Given the description of an element on the screen output the (x, y) to click on. 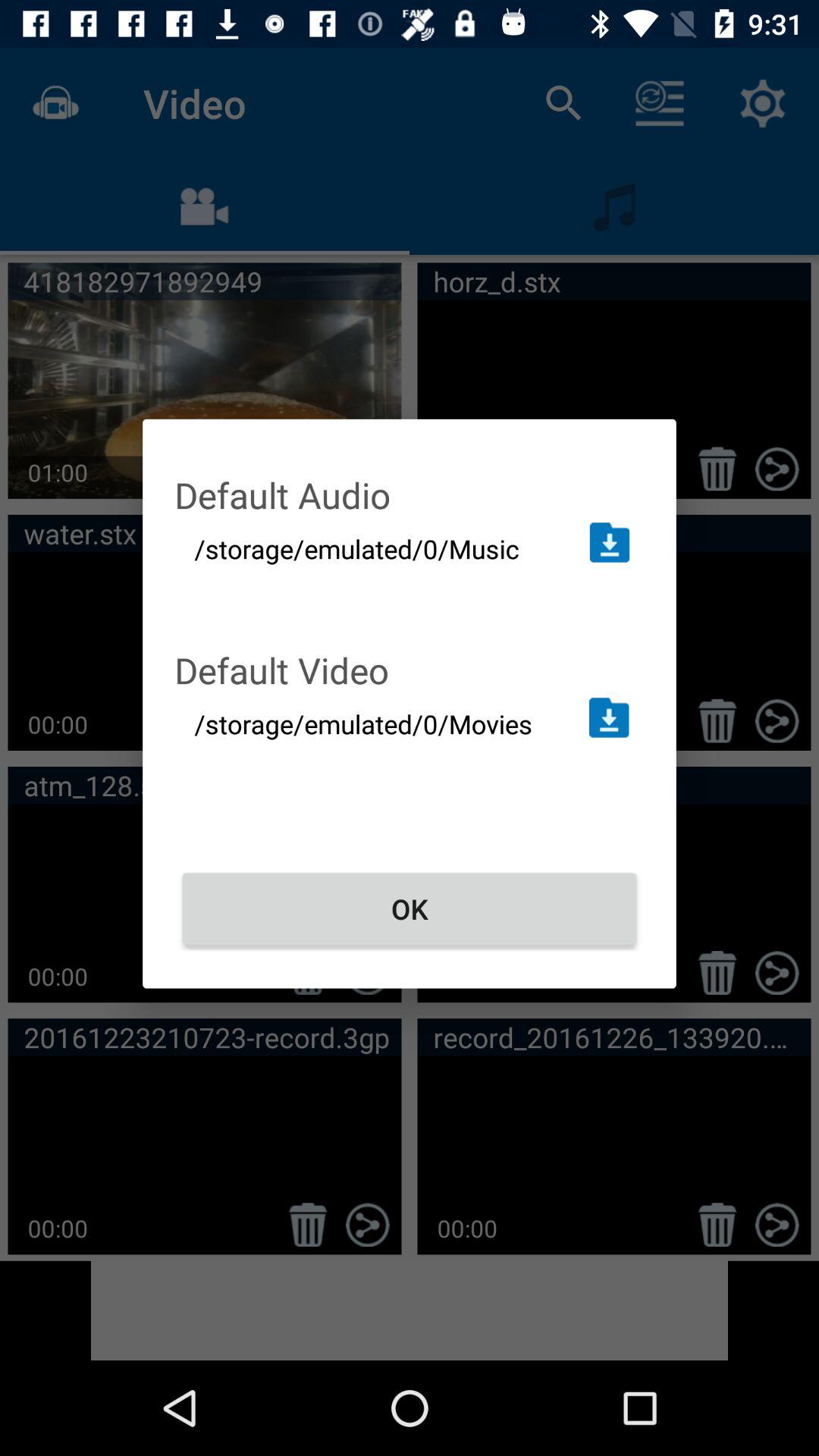
download in device (609, 542)
